Given the description of an element on the screen output the (x, y) to click on. 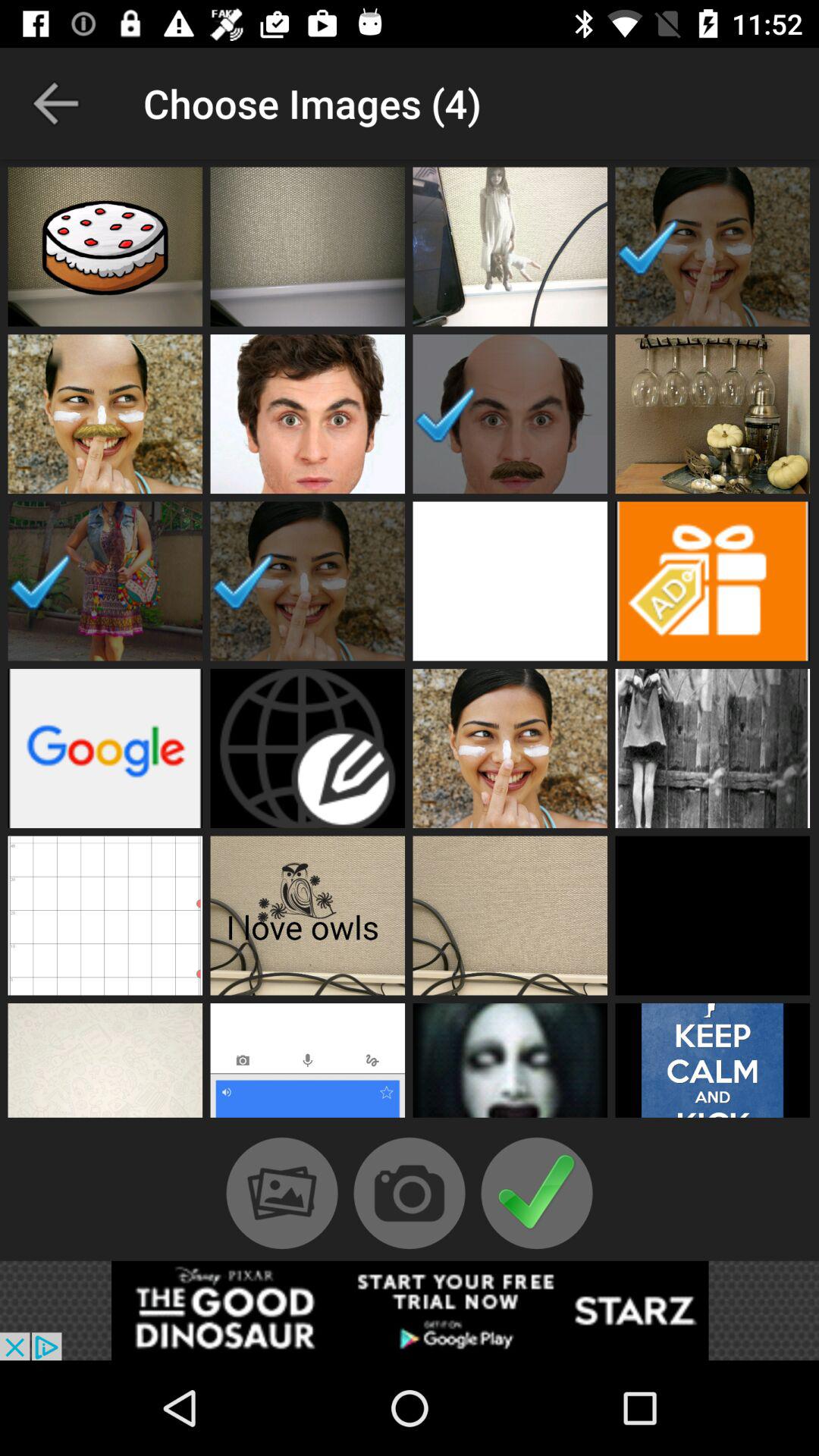
choose image (712, 1064)
